Given the description of an element on the screen output the (x, y) to click on. 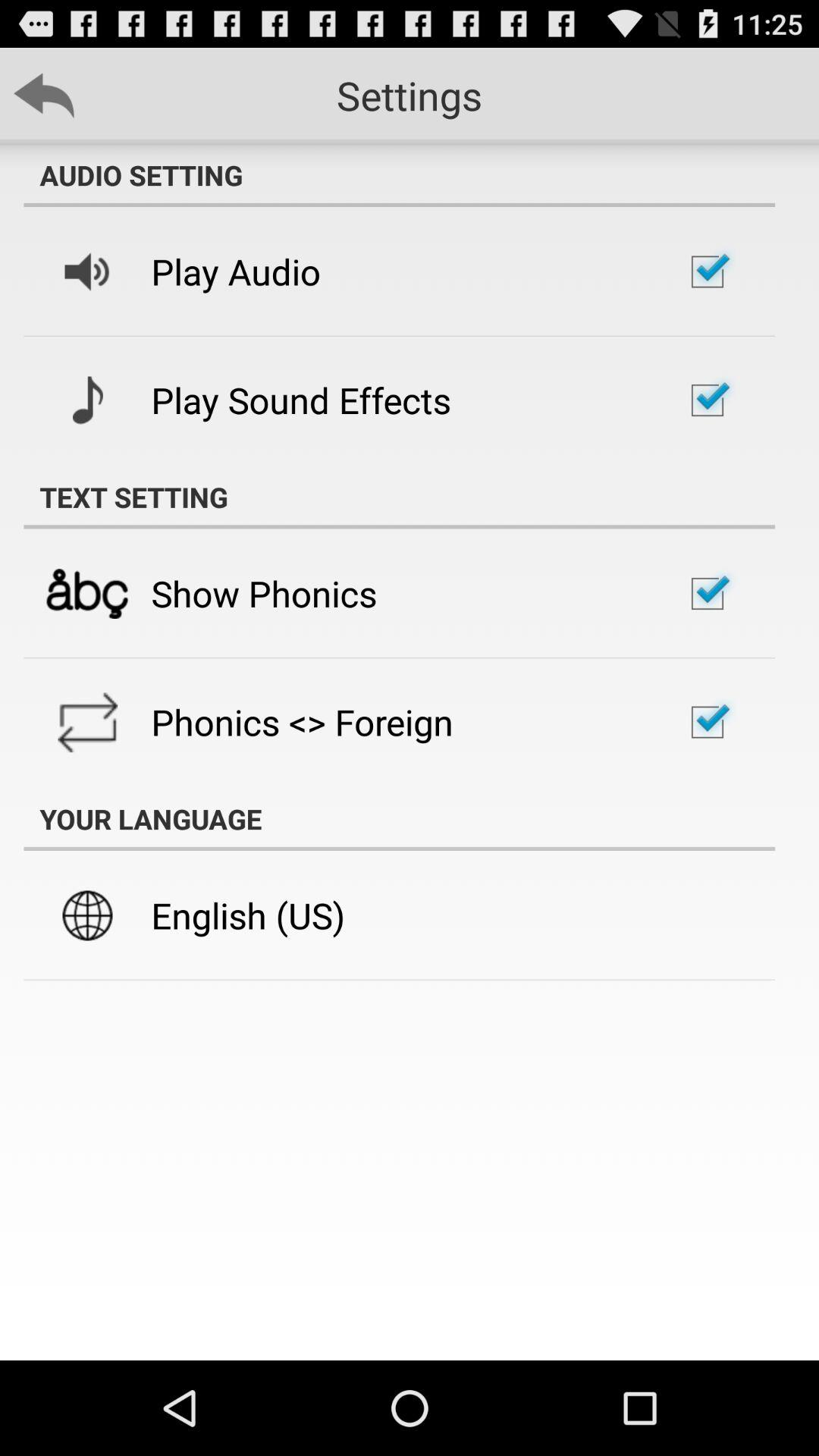
choose the your language icon (399, 818)
